Given the description of an element on the screen output the (x, y) to click on. 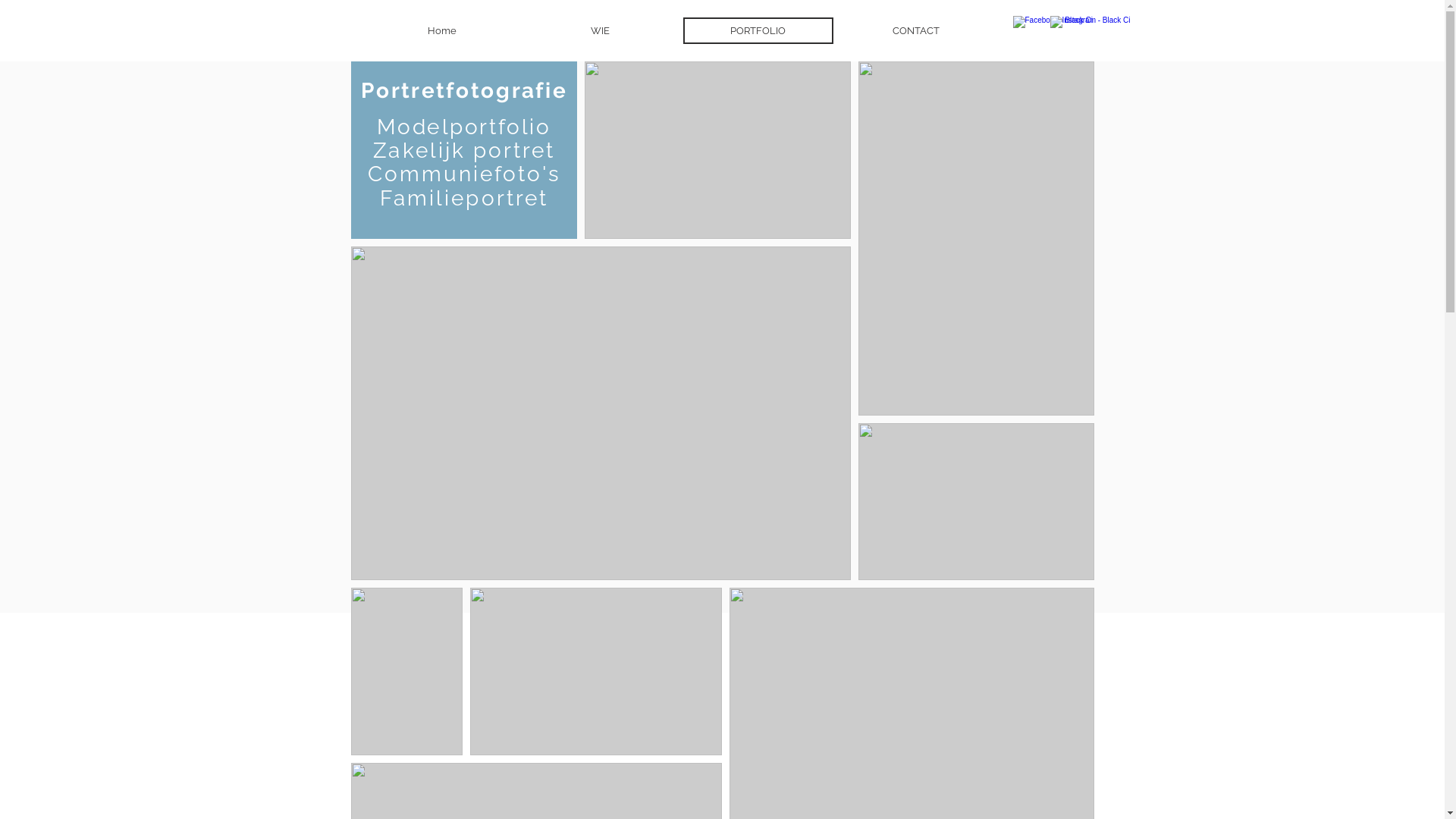
CONTACT Element type: text (915, 30)
Home Element type: text (442, 30)
WIE Element type: text (599, 30)
PORTFOLIO Element type: text (757, 30)
